Given the description of an element on the screen output the (x, y) to click on. 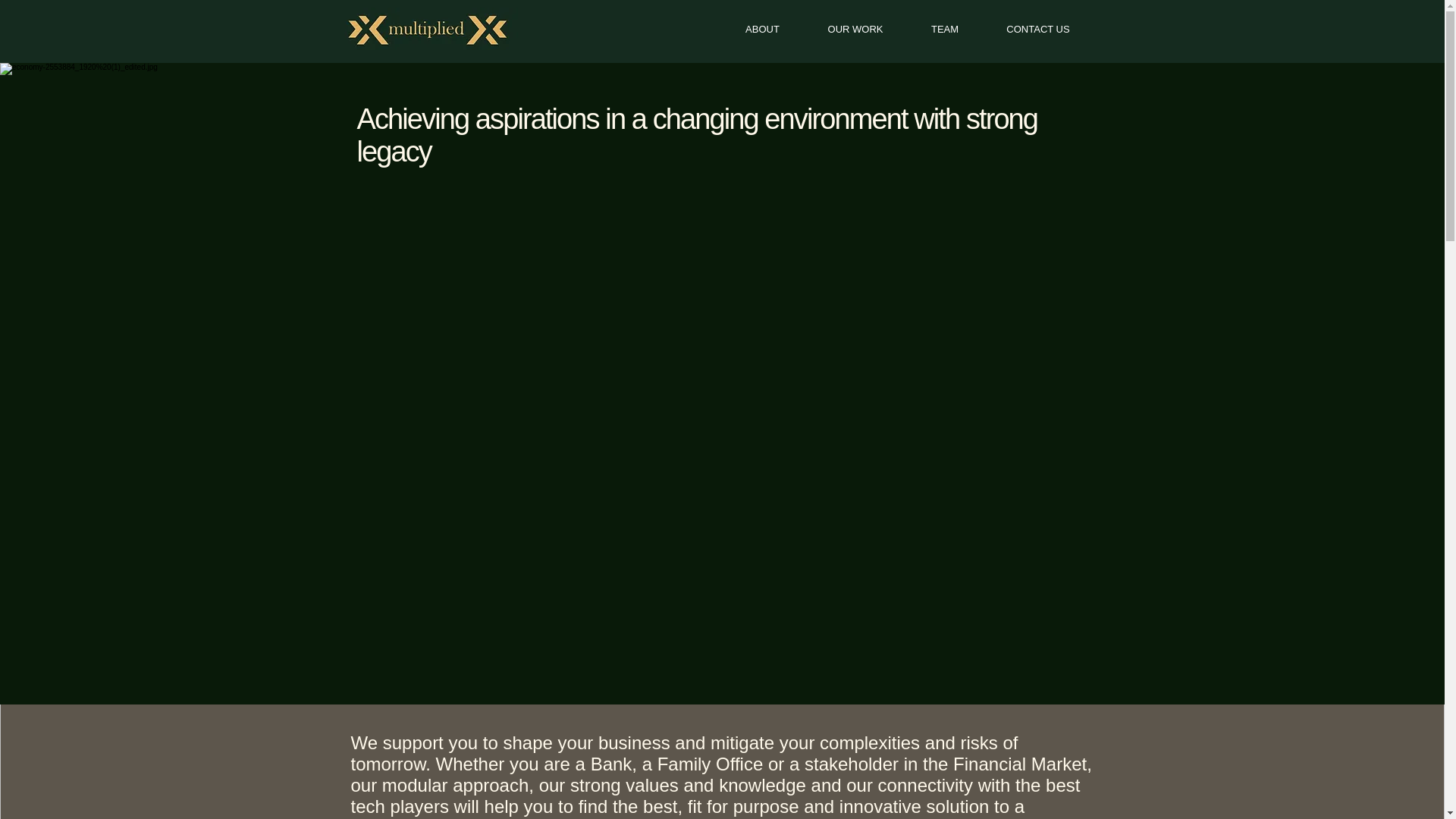
CONTACT US (1037, 29)
OUR WORK (854, 29)
TEAM (945, 29)
ABOUT (761, 29)
